Given the description of an element on the screen output the (x, y) to click on. 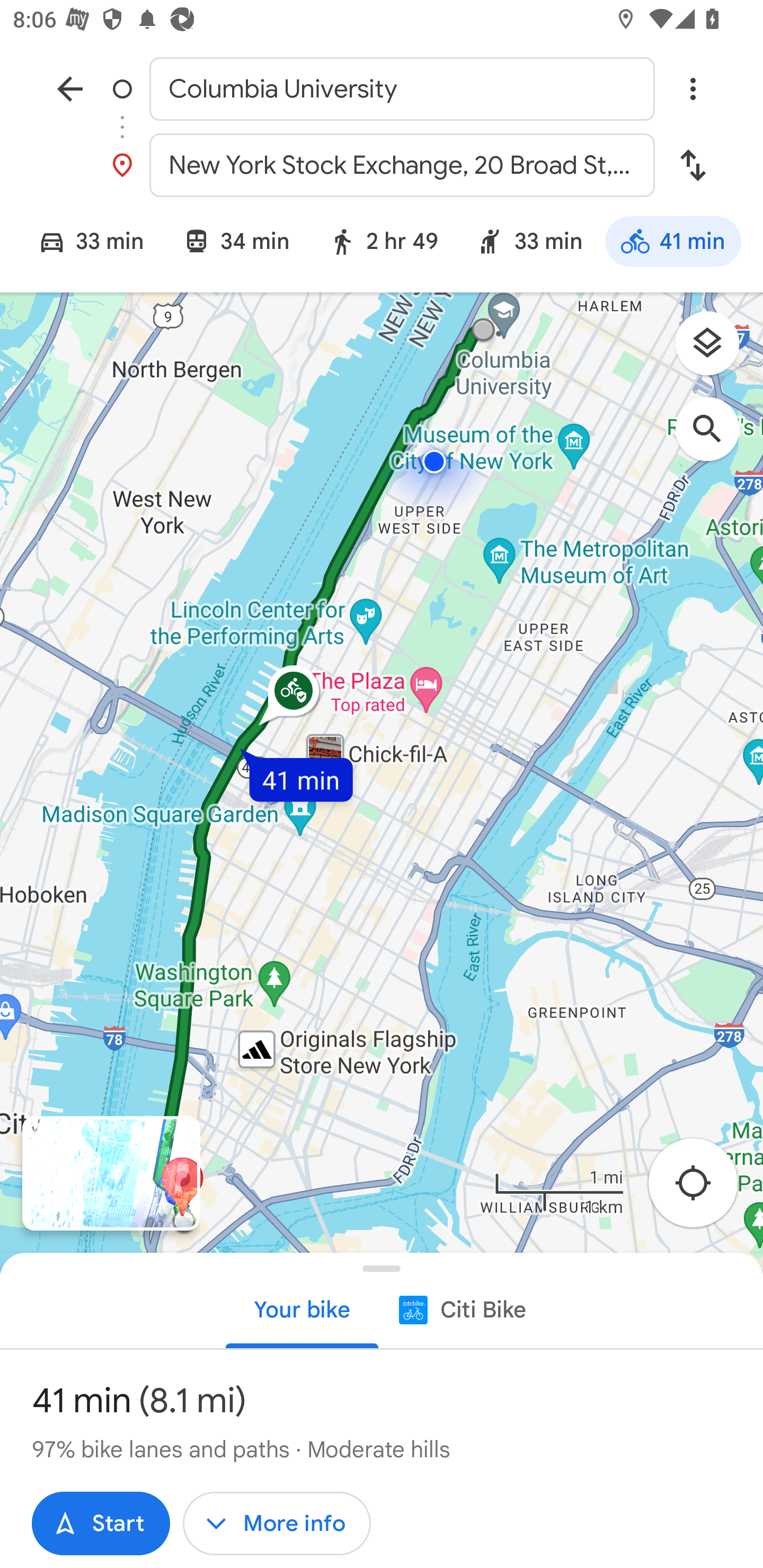
Navigate up (70, 88)
Overflow menu (692, 88)
Swap start and destination (692, 165)
Driving mode: 33 min 33 min (82, 244)
Transit mode: 34 min 34 min (236, 244)
Walking mode: 2 hr 49 2 hr 49 (383, 244)
Ride service: 33 min 33 min (529, 244)
Layers (716, 349)
Search along route (716, 438)
Open Immersive View for routes (110, 1173)
Re-center map to your location (702, 1188)
Citi Bike (460, 1309)
More info More info More info (276, 1522)
